Given the description of an element on the screen output the (x, y) to click on. 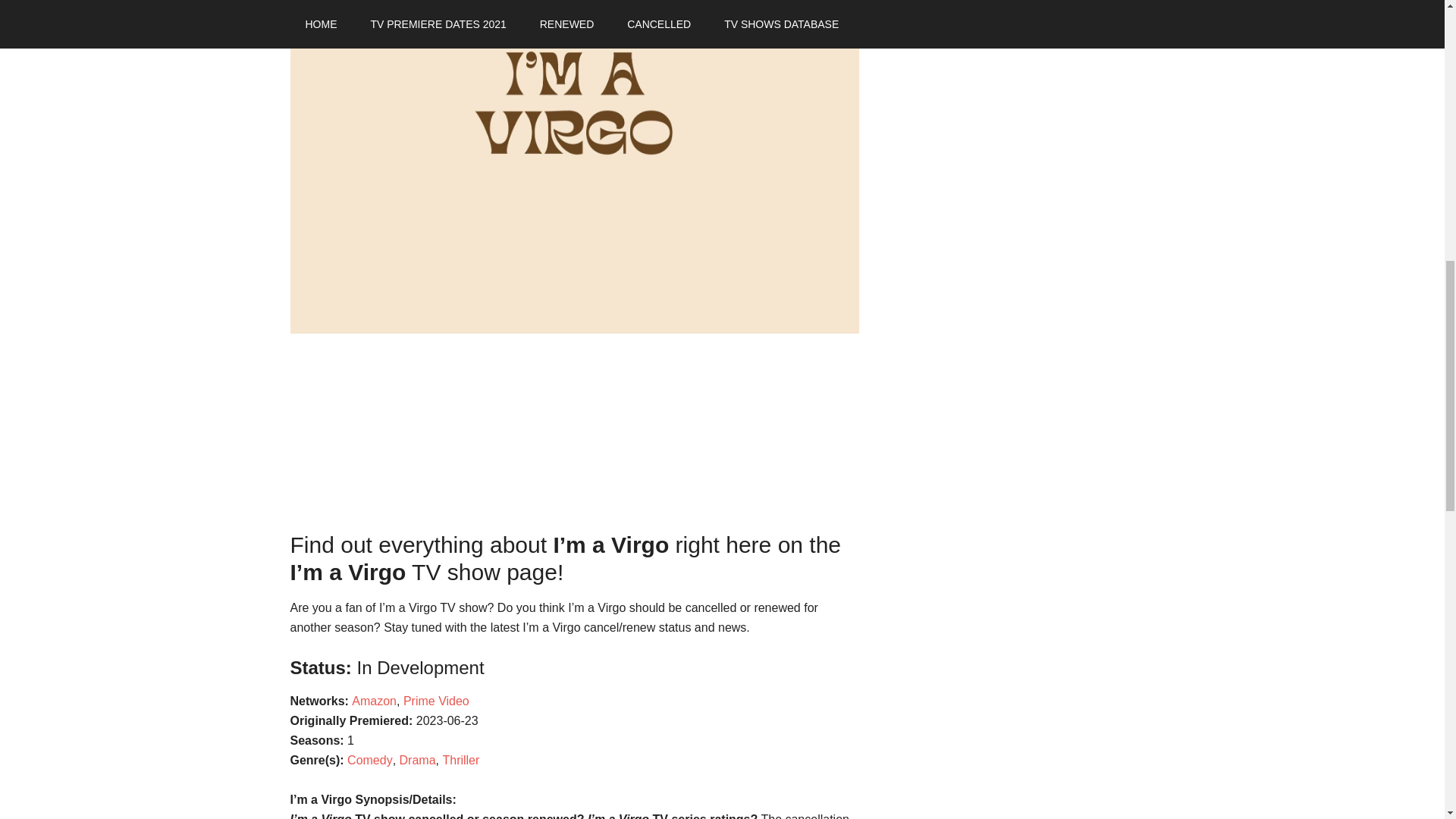
Comedy (370, 759)
Prime Video (435, 700)
Amazon (374, 700)
Drama (416, 759)
Thriller (460, 759)
